Given the description of an element on the screen output the (x, y) to click on. 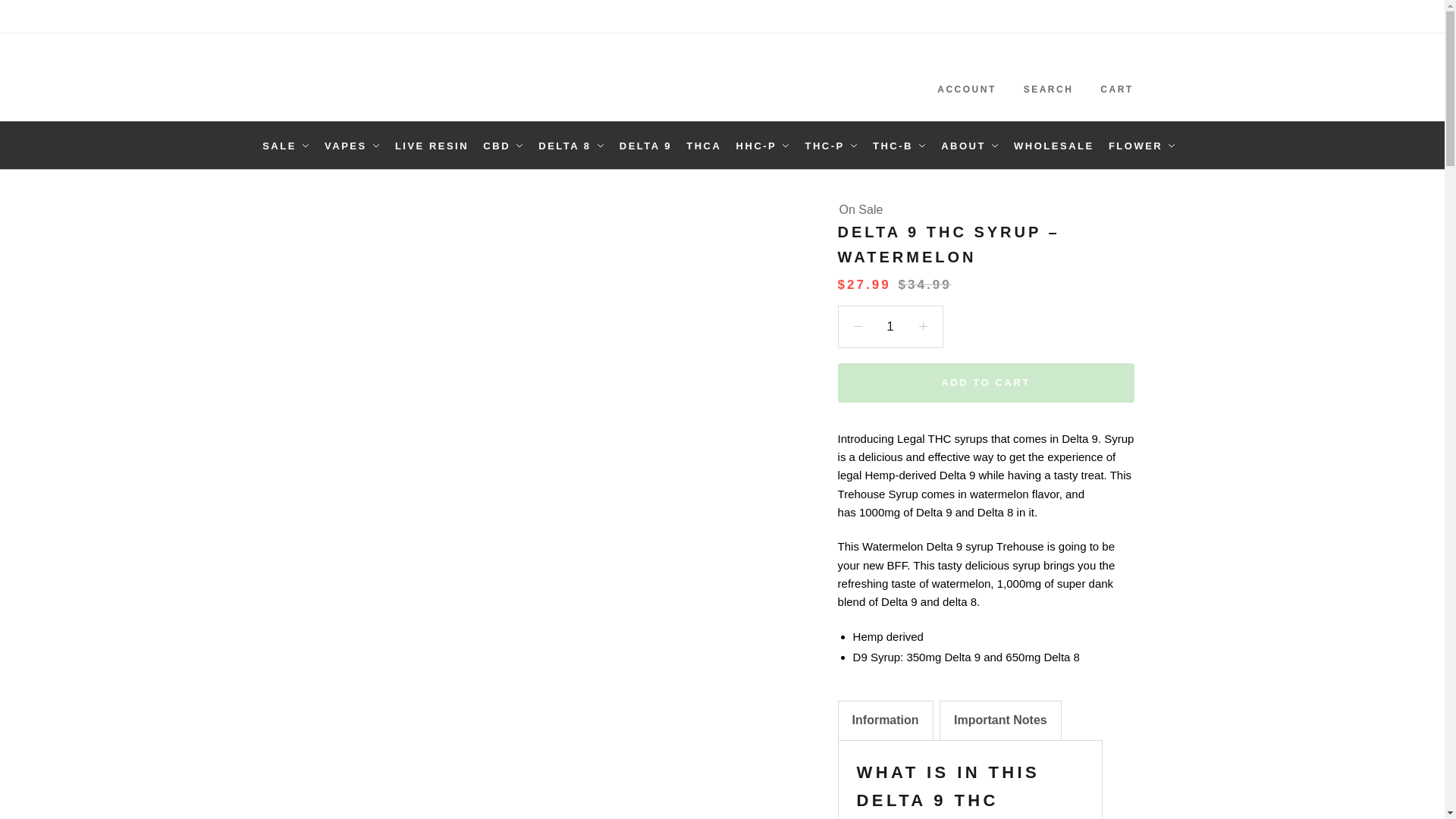
ACCOUNT (967, 76)
SALE (288, 145)
Qty (890, 326)
SEARCH (1047, 76)
VAPES (351, 145)
CBD (503, 145)
1 (890, 326)
CART (1117, 76)
LIVE RESIN (432, 145)
